Given the description of an element on the screen output the (x, y) to click on. 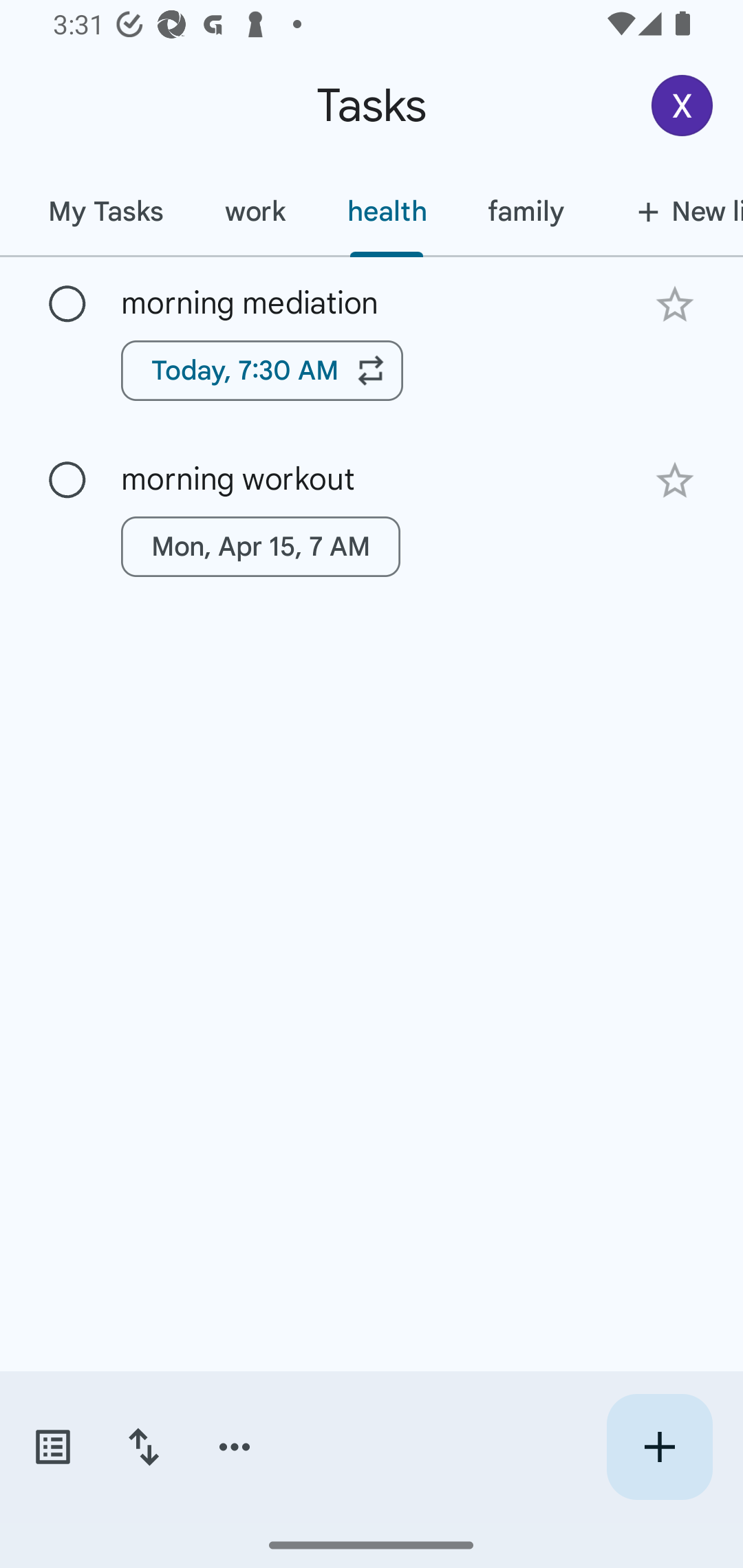
My Tasks (105, 211)
work (254, 211)
family (525, 211)
New list (669, 211)
Add star (674, 303)
Mark as complete (67, 304)
Today, 7:30 AM (262, 369)
Add star (674, 480)
Mark as complete (67, 480)
Mon, Apr 15, 7 AM (260, 546)
Switch task lists (52, 1447)
Create new task (659, 1446)
Change sort order (143, 1446)
More options (234, 1446)
